Given the description of an element on the screen output the (x, y) to click on. 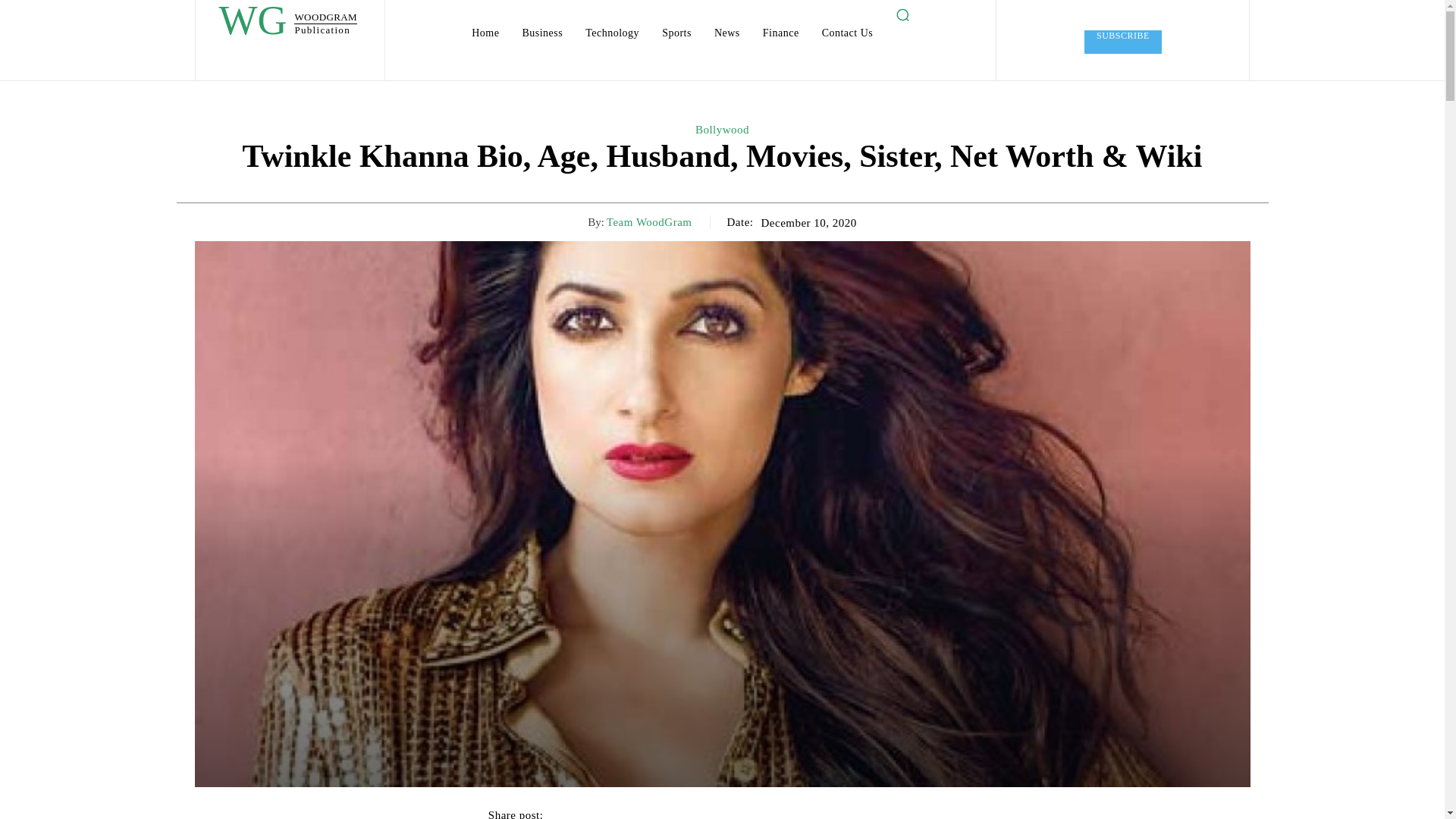
Bollywood (722, 129)
Contact Us (846, 33)
SUBSCRIBE (1122, 42)
Team WoodGram (287, 23)
Technology (650, 222)
Business (612, 33)
Subscribe (541, 33)
